Given the description of an element on the screen output the (x, y) to click on. 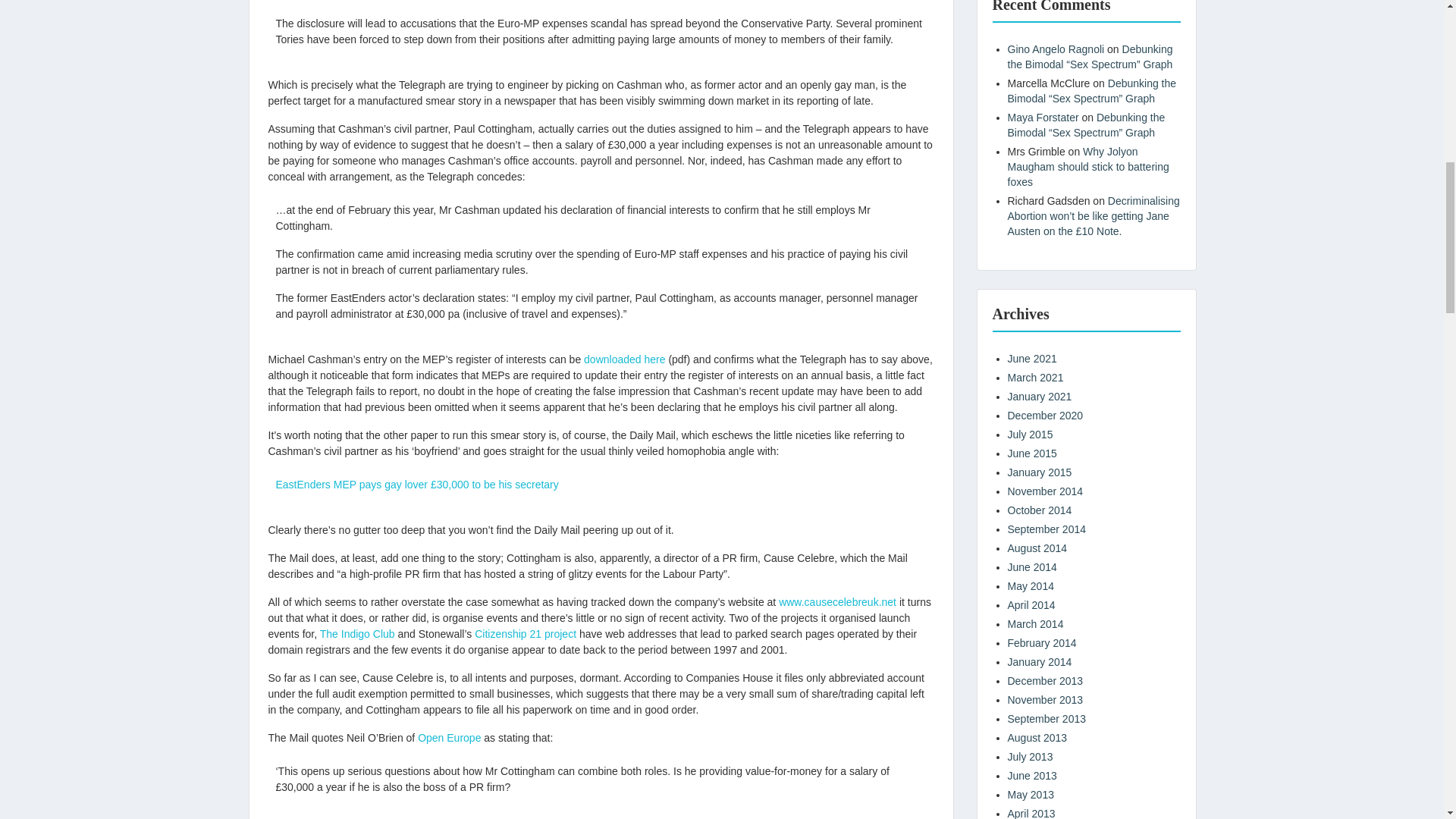
Open Europe (448, 737)
Citizenship 21 project (525, 633)
downloaded here (624, 358)
The Indigo Club (357, 633)
www.causecelebreuk.net (837, 602)
